Given the description of an element on the screen output the (x, y) to click on. 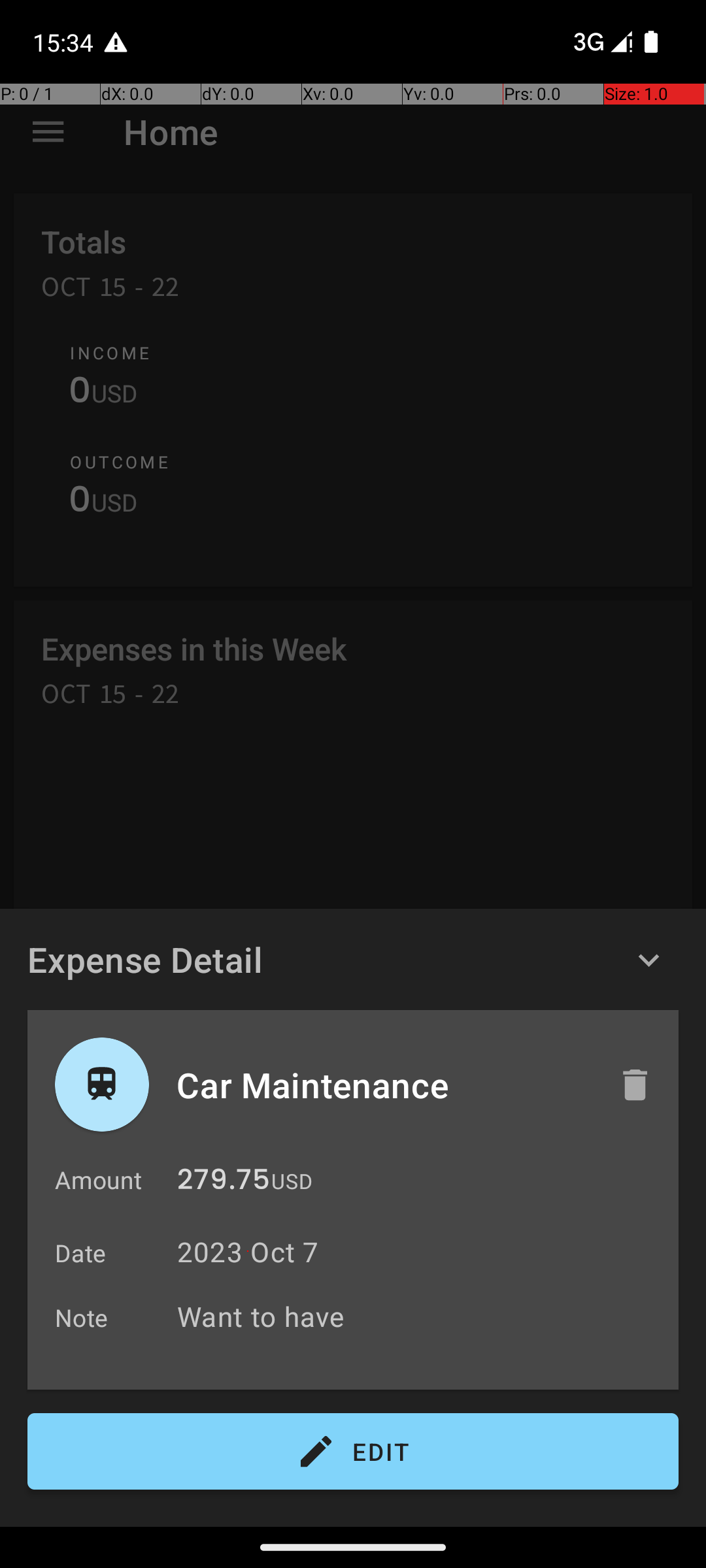
Car Maintenance Element type: android.widget.TextView (383, 1084)
279.75 Element type: android.widget.TextView (223, 1182)
2023 Oct 7 Element type: android.widget.TextView (247, 1251)
Want to have Element type: android.widget.TextView (420, 1315)
